Given the description of an element on the screen output the (x, y) to click on. 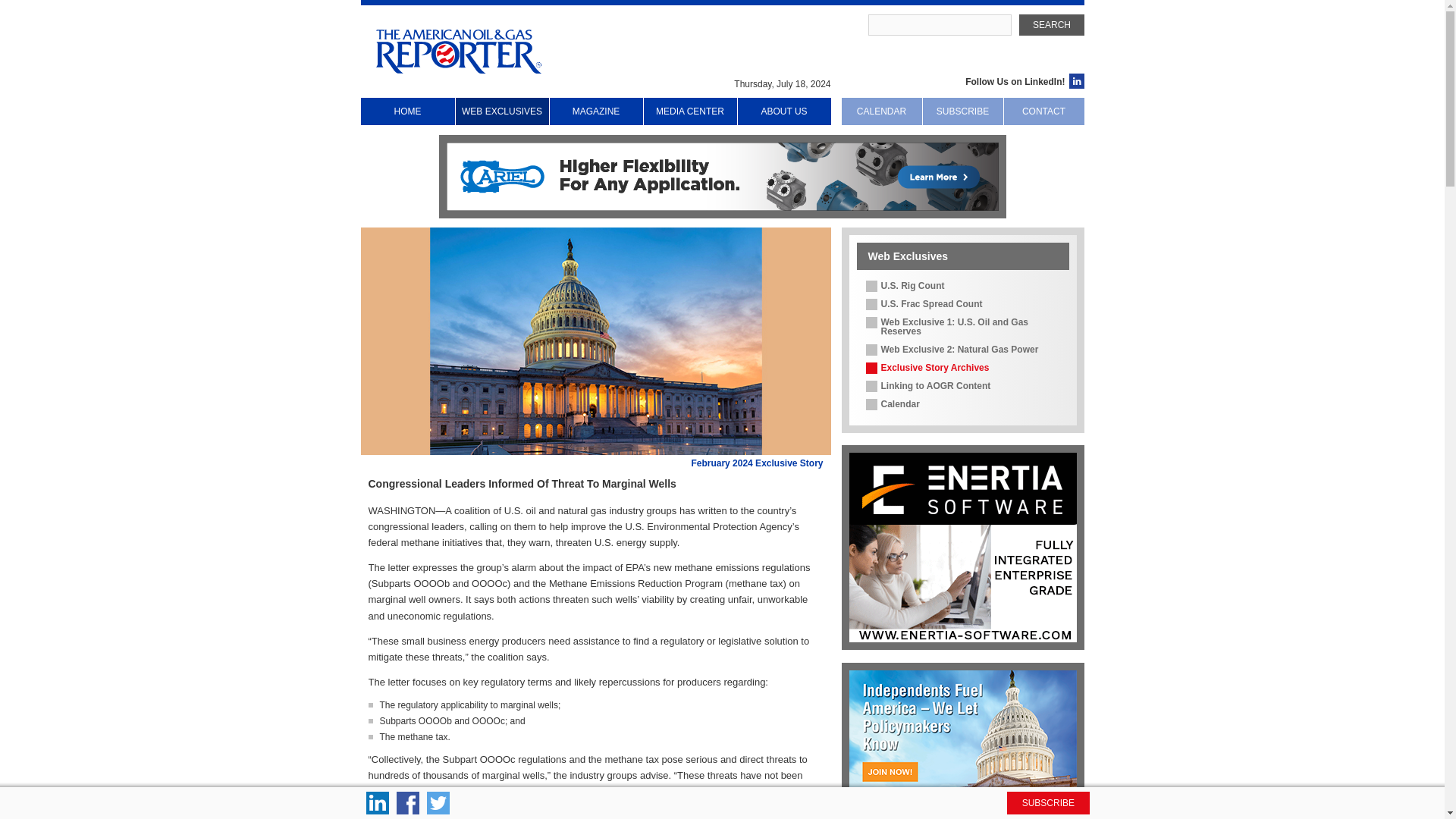
Ad - Enertia Software: Fully Integrated Enterprise Grade (962, 547)
Ad - Ariel: Higher flexibility for any application (721, 176)
